Given the description of an element on the screen output the (x, y) to click on. 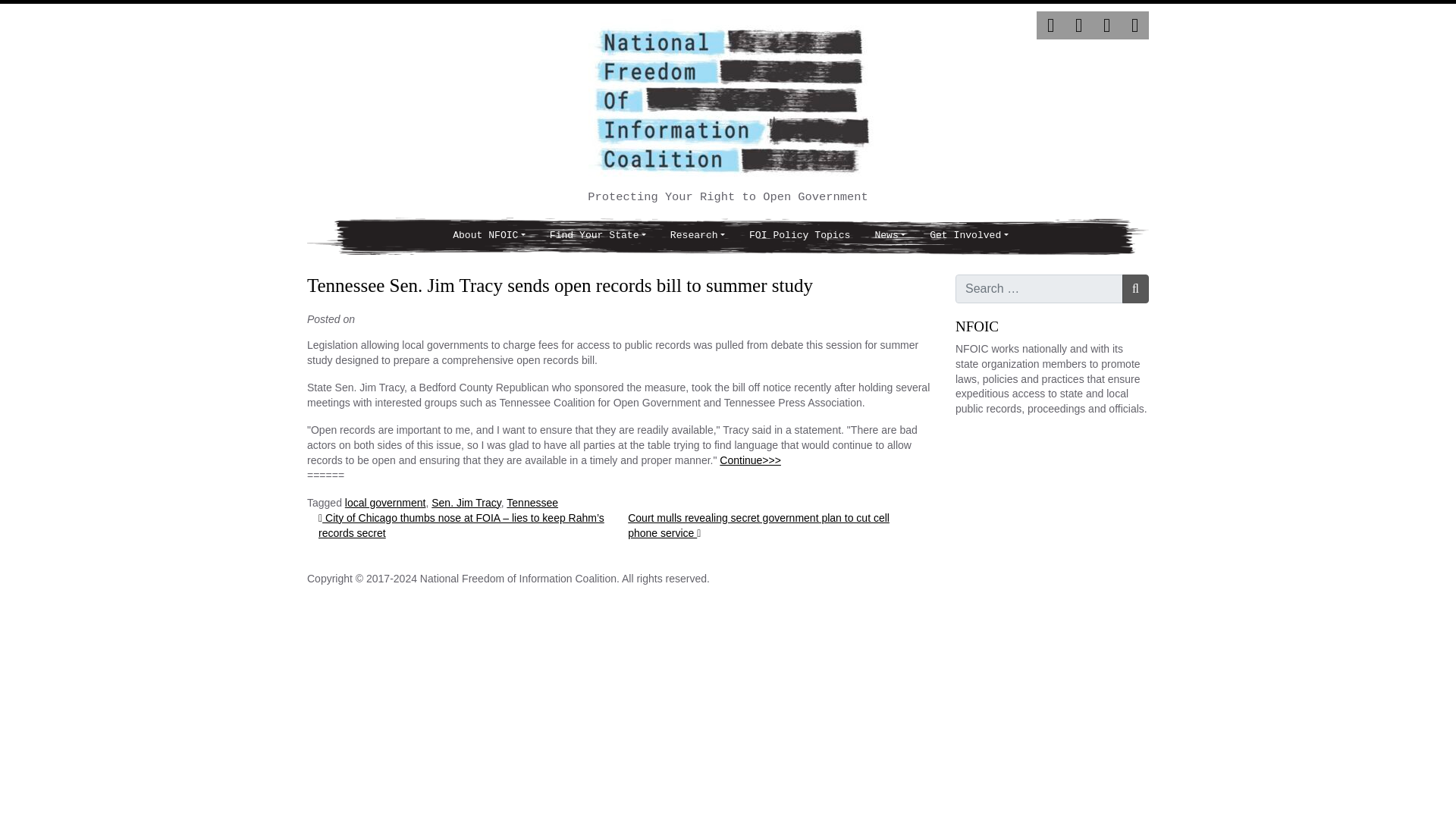
Twitter (1050, 25)
News (889, 235)
About NFOIC (489, 235)
Research (697, 235)
Instagram (1107, 25)
Get Involved (968, 235)
FOI Policy Topics (798, 235)
Facebook (1078, 25)
local government (385, 502)
About NFOIC (489, 235)
